Given the description of an element on the screen output the (x, y) to click on. 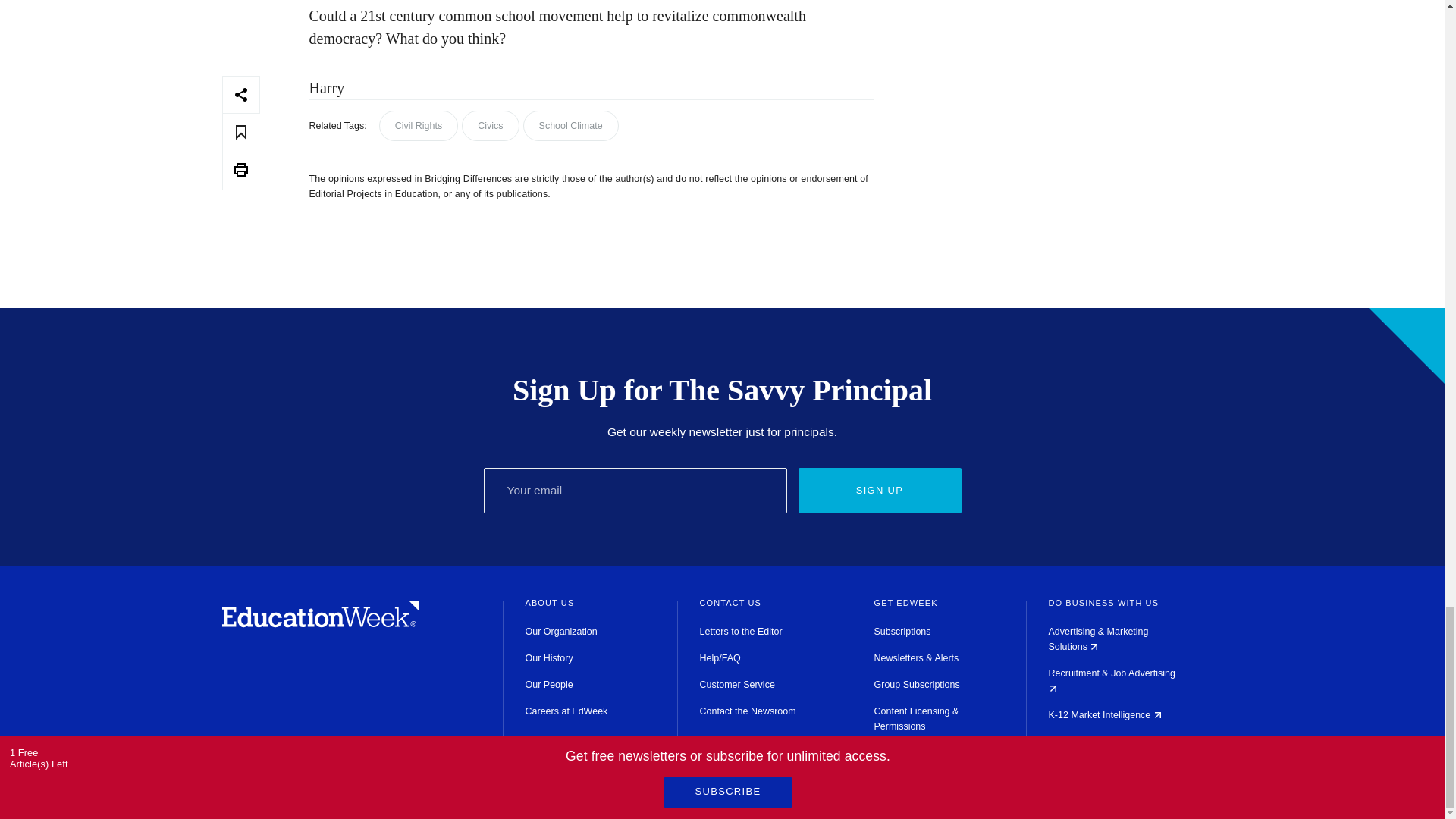
Homepage (320, 623)
